Given the description of an element on the screen output the (x, y) to click on. 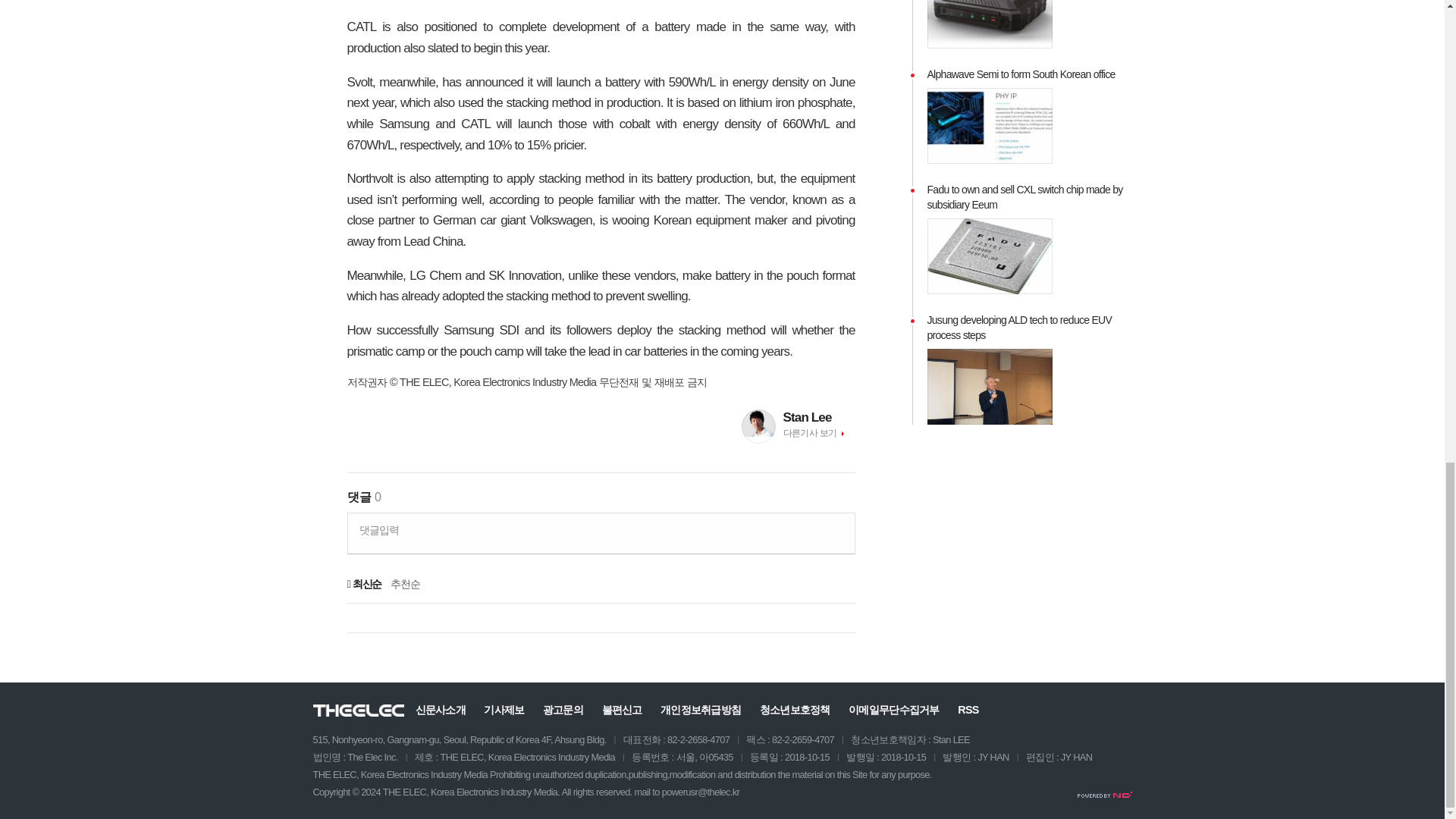
Stan Lee (818, 417)
